Given the description of an element on the screen output the (x, y) to click on. 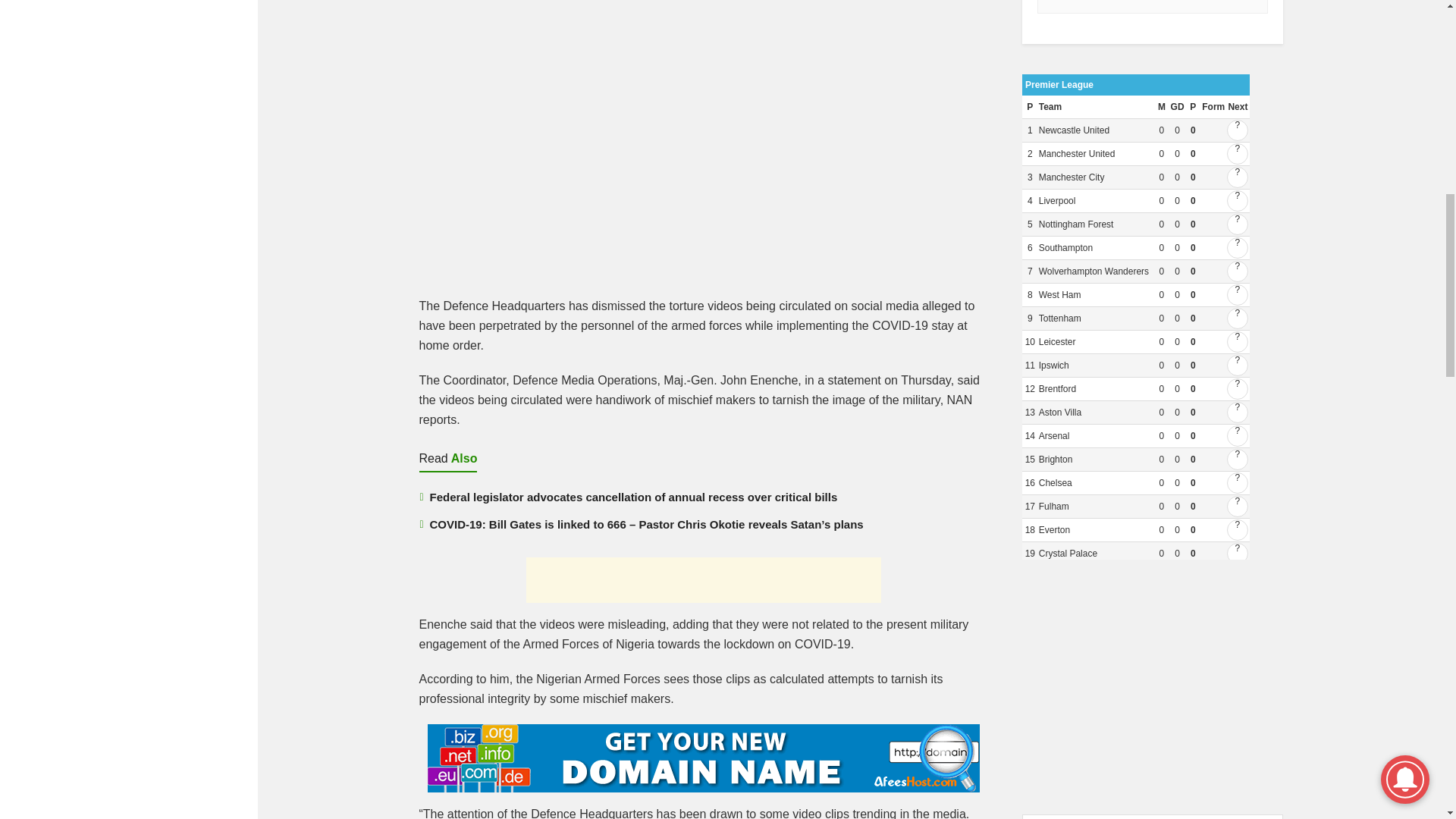
Advertisement (703, 145)
